Given the description of an element on the screen output the (x, y) to click on. 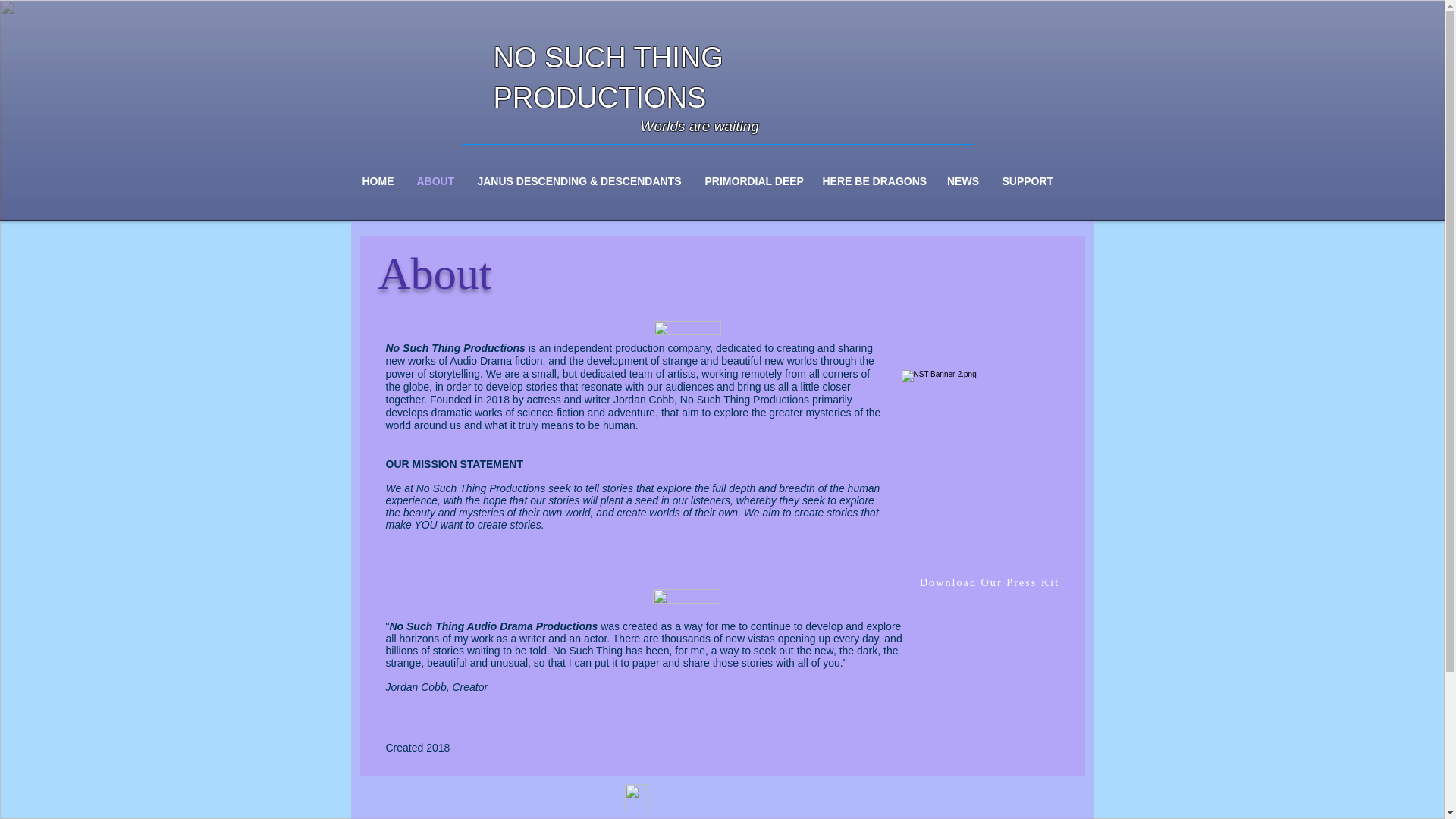
SUPPORT (1027, 181)
ABOUT (434, 181)
NO SUCH THING PRODUCTIONS (607, 77)
HOME (377, 181)
PRIMORDIAL DEEP (751, 181)
NEWS (963, 181)
4.png (685, 595)
Download Our Press Kit (989, 582)
HERE BE DRAGONS (873, 181)
4.png (686, 327)
